Given the description of an element on the screen output the (x, y) to click on. 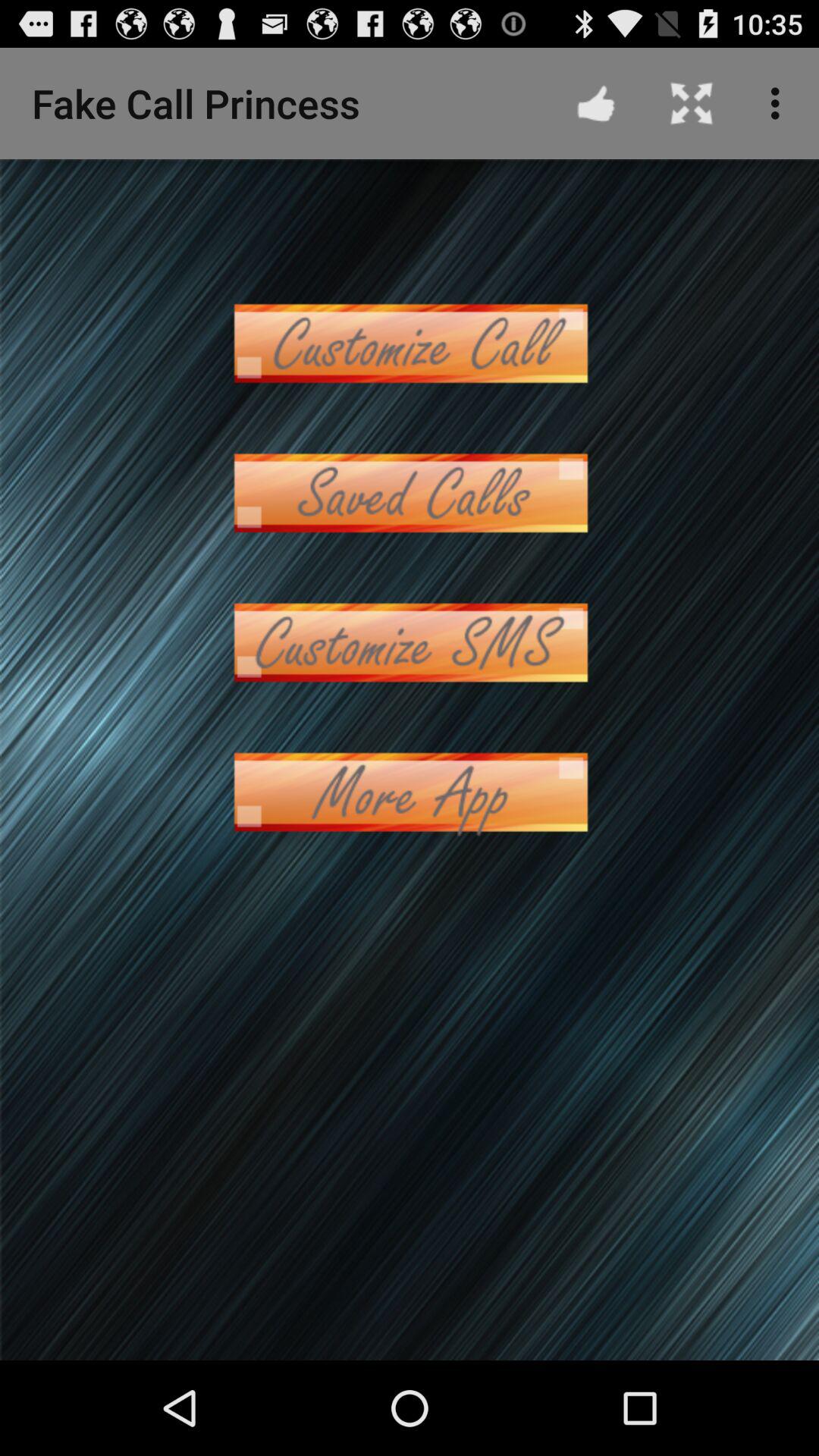
view more apps (409, 792)
